Given the description of an element on the screen output the (x, y) to click on. 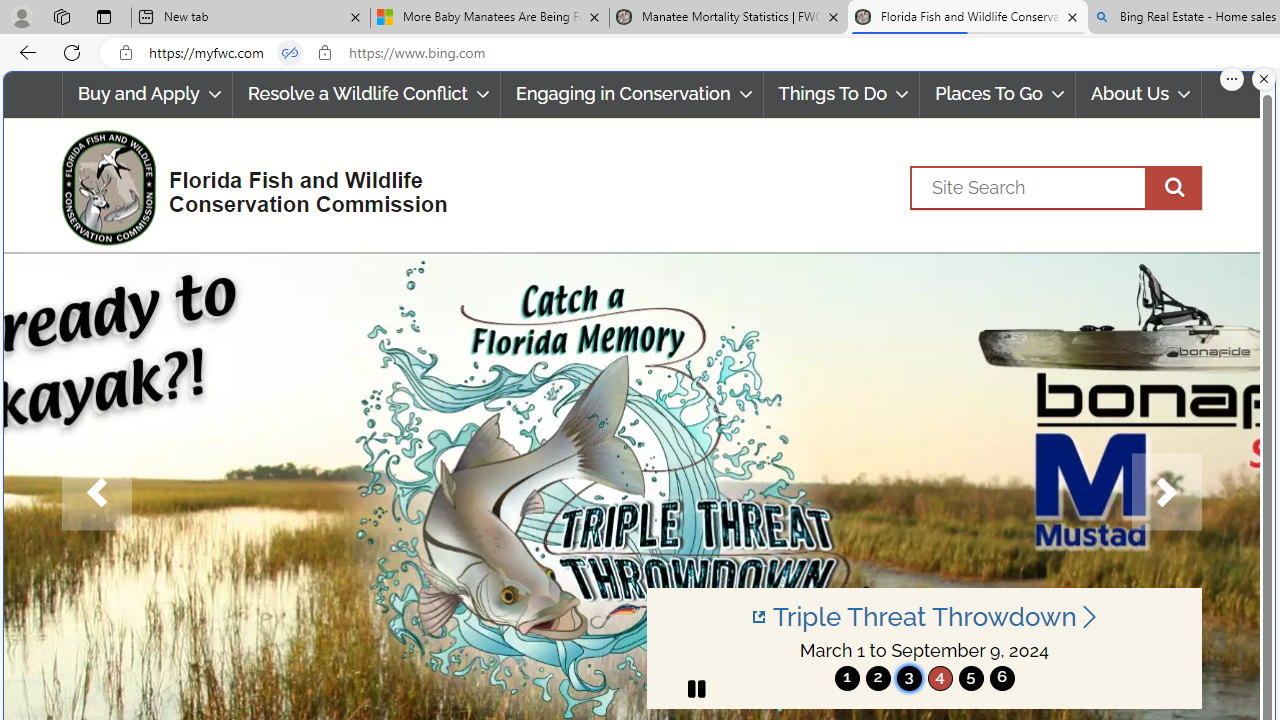
Resolve a Wildlife Conflict (365, 94)
